Given the description of an element on the screen output the (x, y) to click on. 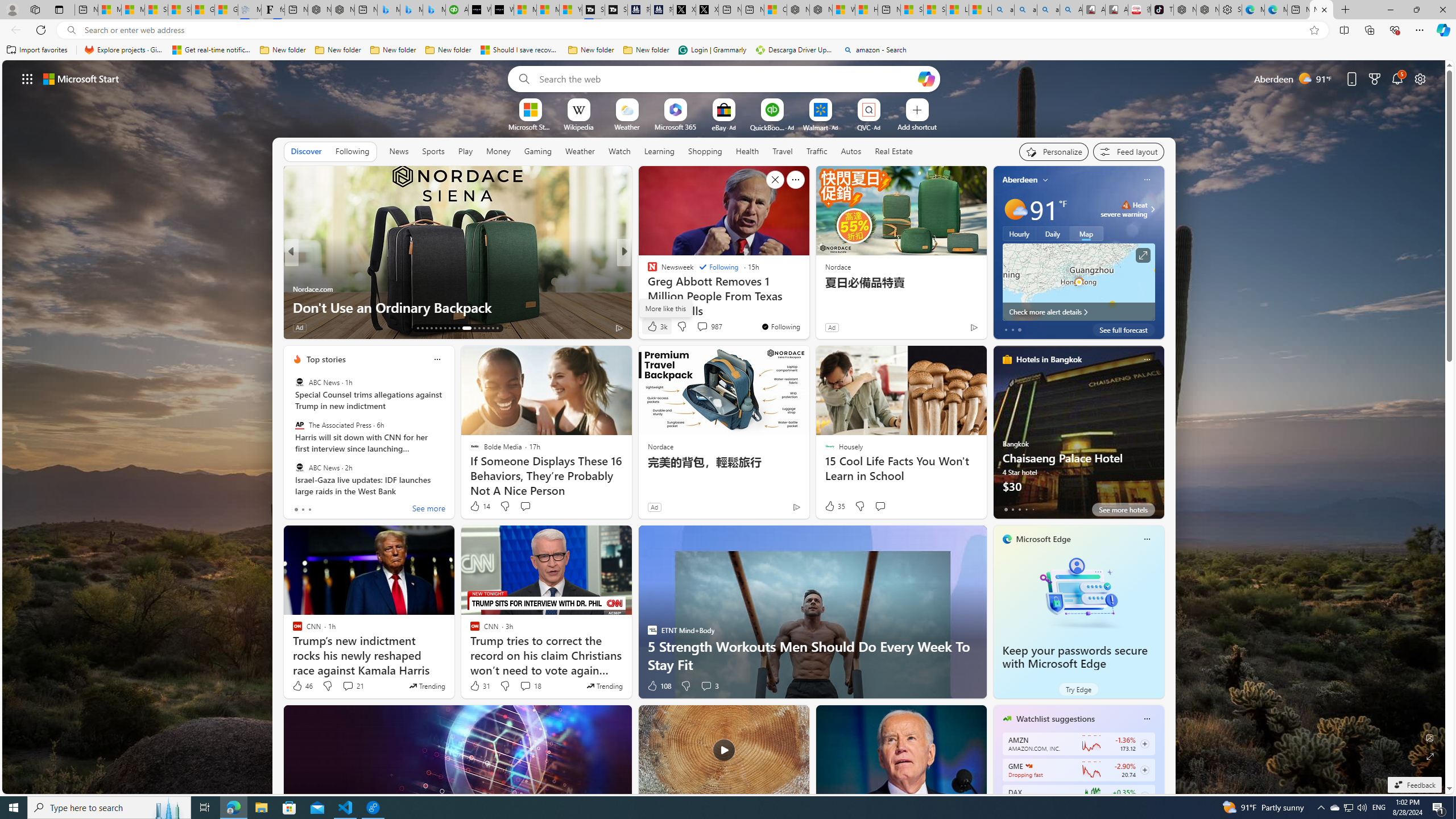
Favorites bar (728, 49)
AutomationID: tab-14 (422, 328)
View comments 52 Comment (698, 327)
AutomationID: tab-22 (458, 328)
Sports (432, 151)
PsychLove (296, 270)
All Cubot phones (1116, 9)
Following (352, 151)
AutomationID: tab-19 (444, 328)
tab-1 (1012, 509)
Try Edge (1078, 689)
You're following Newsweek (780, 326)
